Given the description of an element on the screen output the (x, y) to click on. 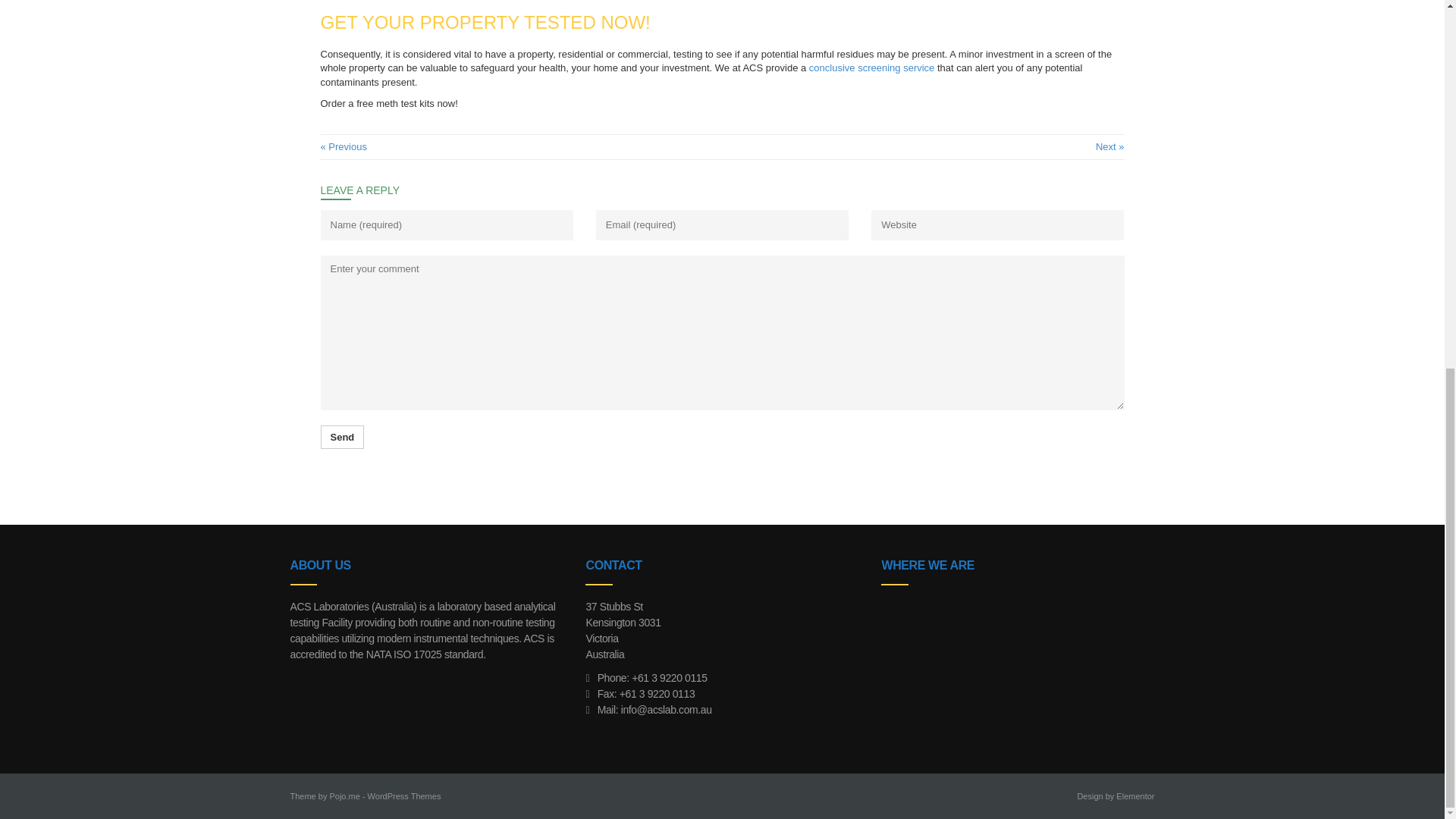
Pojo.me (344, 795)
Send (342, 436)
conclusive screening service (871, 67)
Send (342, 436)
Elementor (1135, 795)
